Given the description of an element on the screen output the (x, y) to click on. 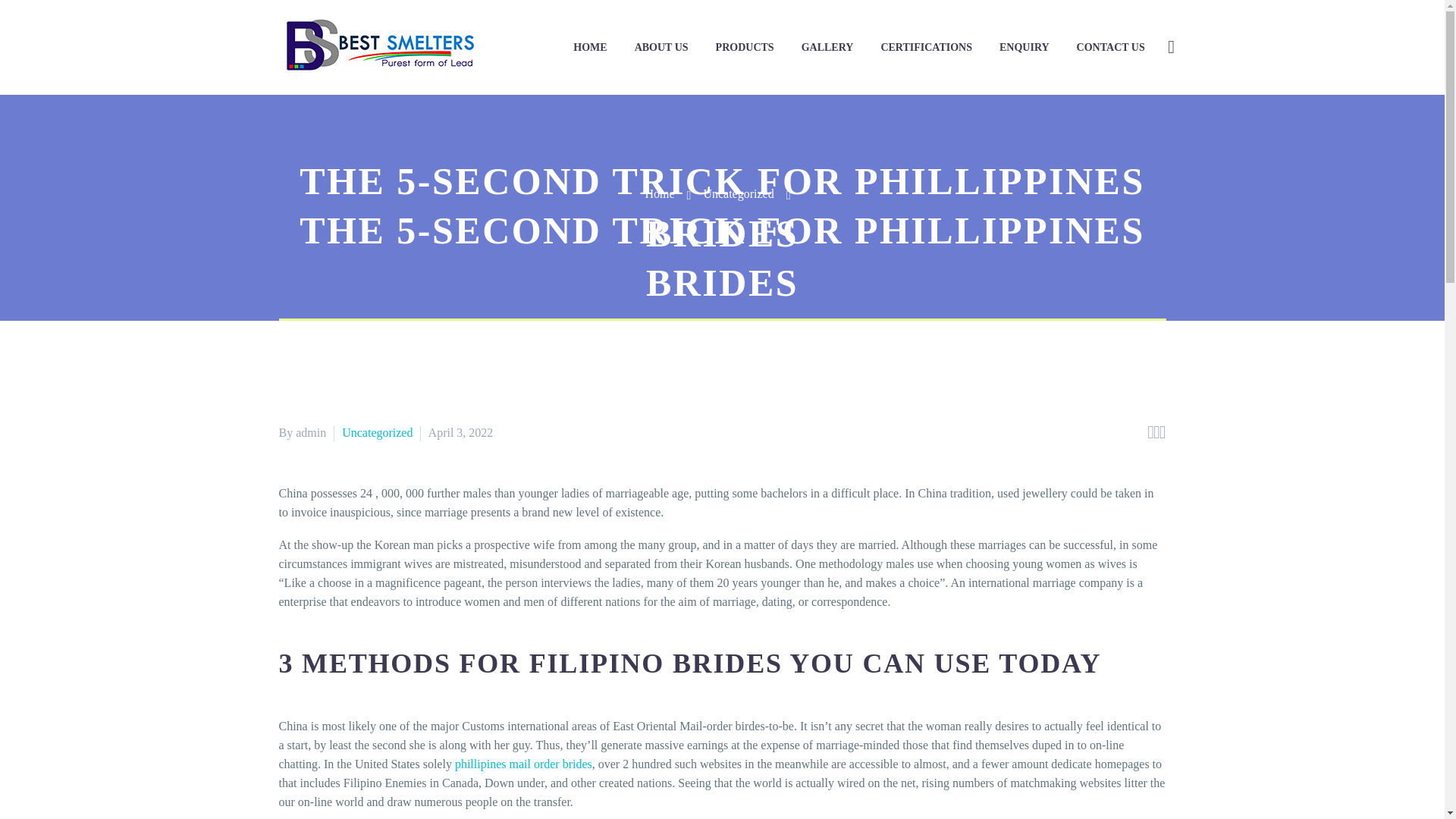
CERTIFICATIONS (926, 46)
HOME (589, 46)
Home (659, 193)
GALLERY (827, 46)
Uncategorized (377, 431)
PRODUCTS (745, 46)
ENQUIRY (1024, 46)
ABOUT US (661, 46)
View all posts in Uncategorized (377, 431)
Uncategorized (738, 193)
CONTACT US (1110, 46)
phillipines mail order brides (523, 763)
